Given the description of an element on the screen output the (x, y) to click on. 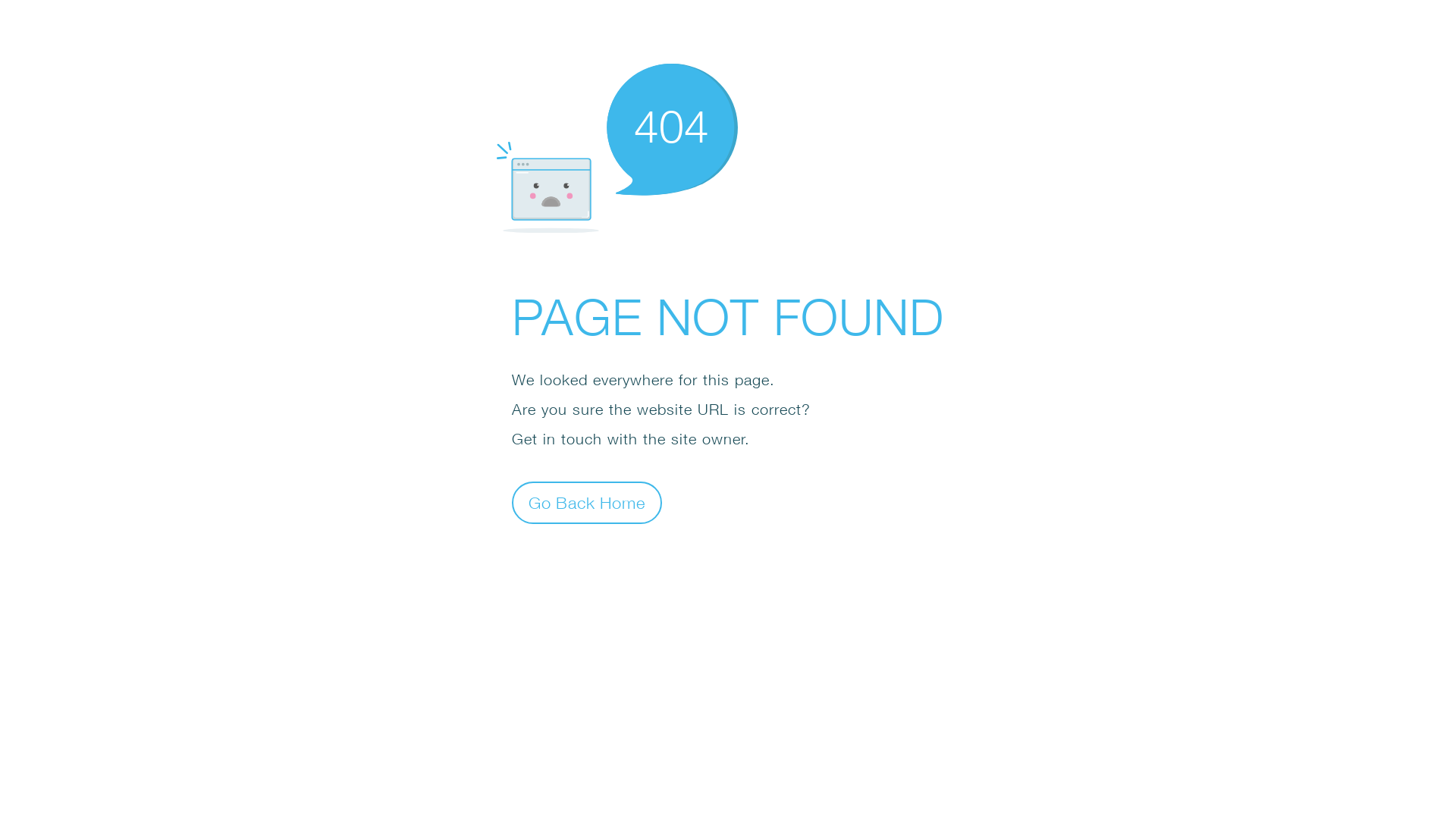
Go Back Home Element type: text (586, 502)
